Given the description of an element on the screen output the (x, y) to click on. 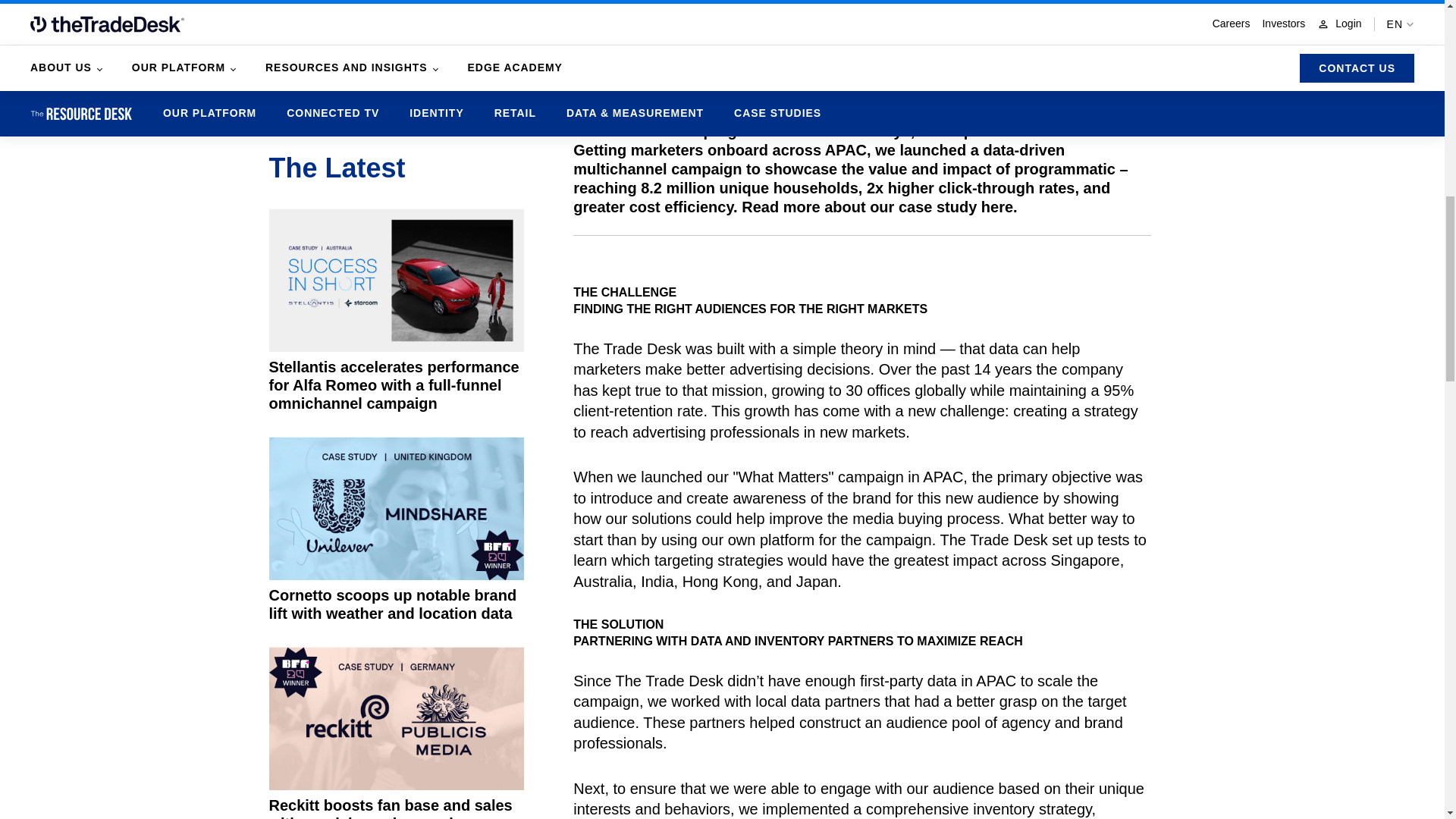
Reckitt boosts fan base and sales with omnichannel campaign (394, 733)
